Given the description of an element on the screen output the (x, y) to click on. 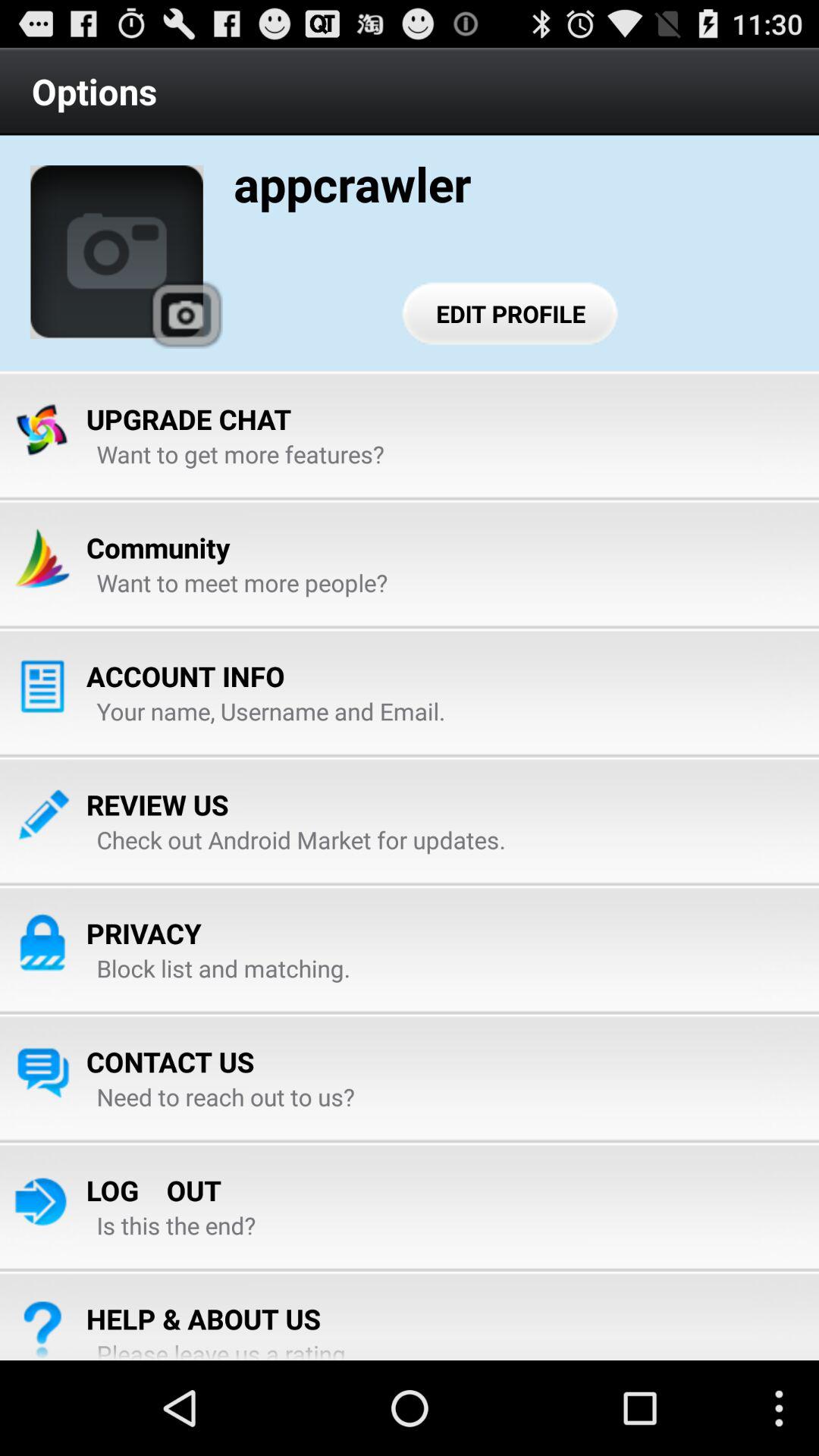
turn off the item below the options item (116, 251)
